Given the description of an element on the screen output the (x, y) to click on. 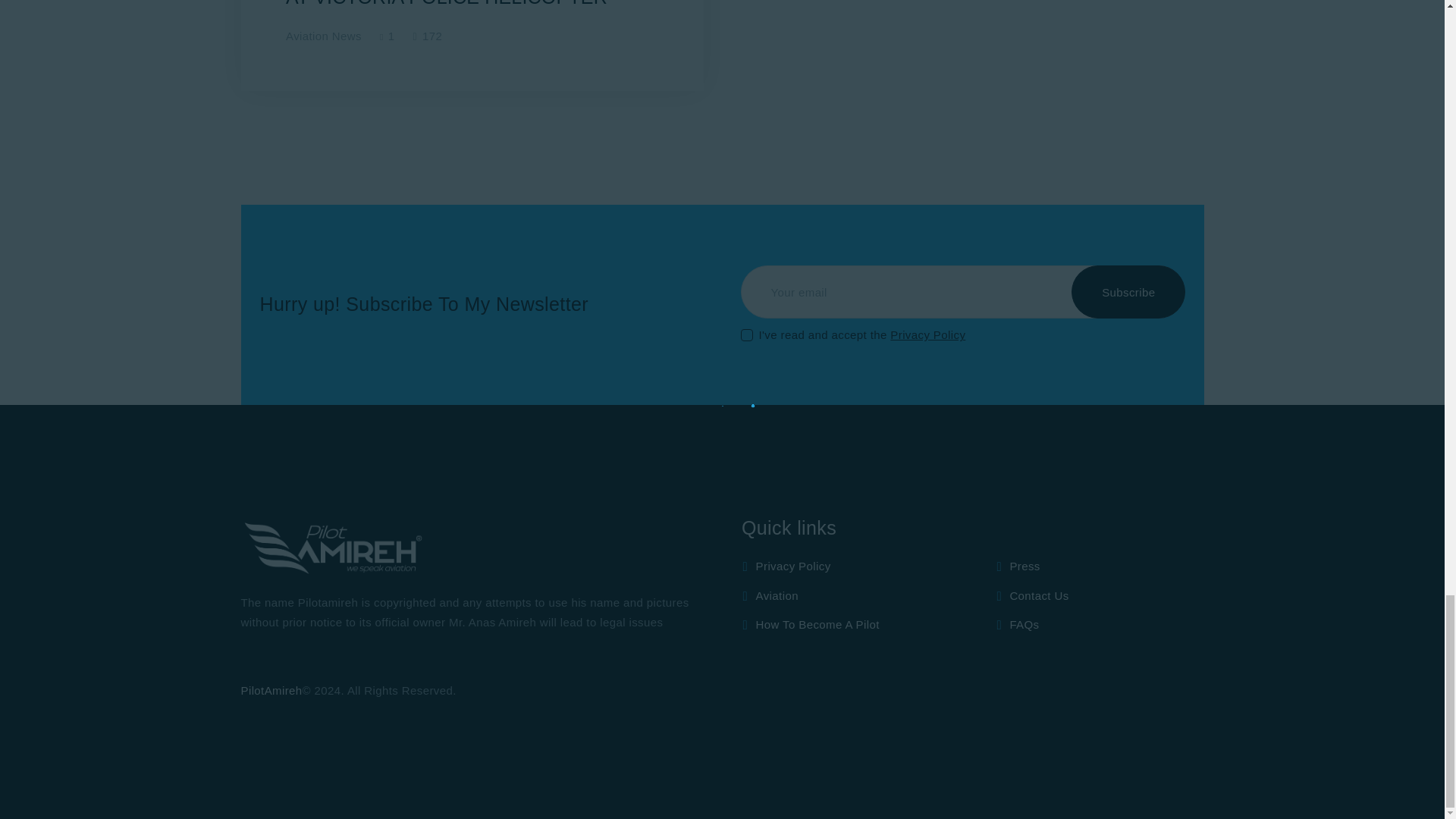
Subscribe (1128, 291)
1 (746, 323)
